Given the description of an element on the screen output the (x, y) to click on. 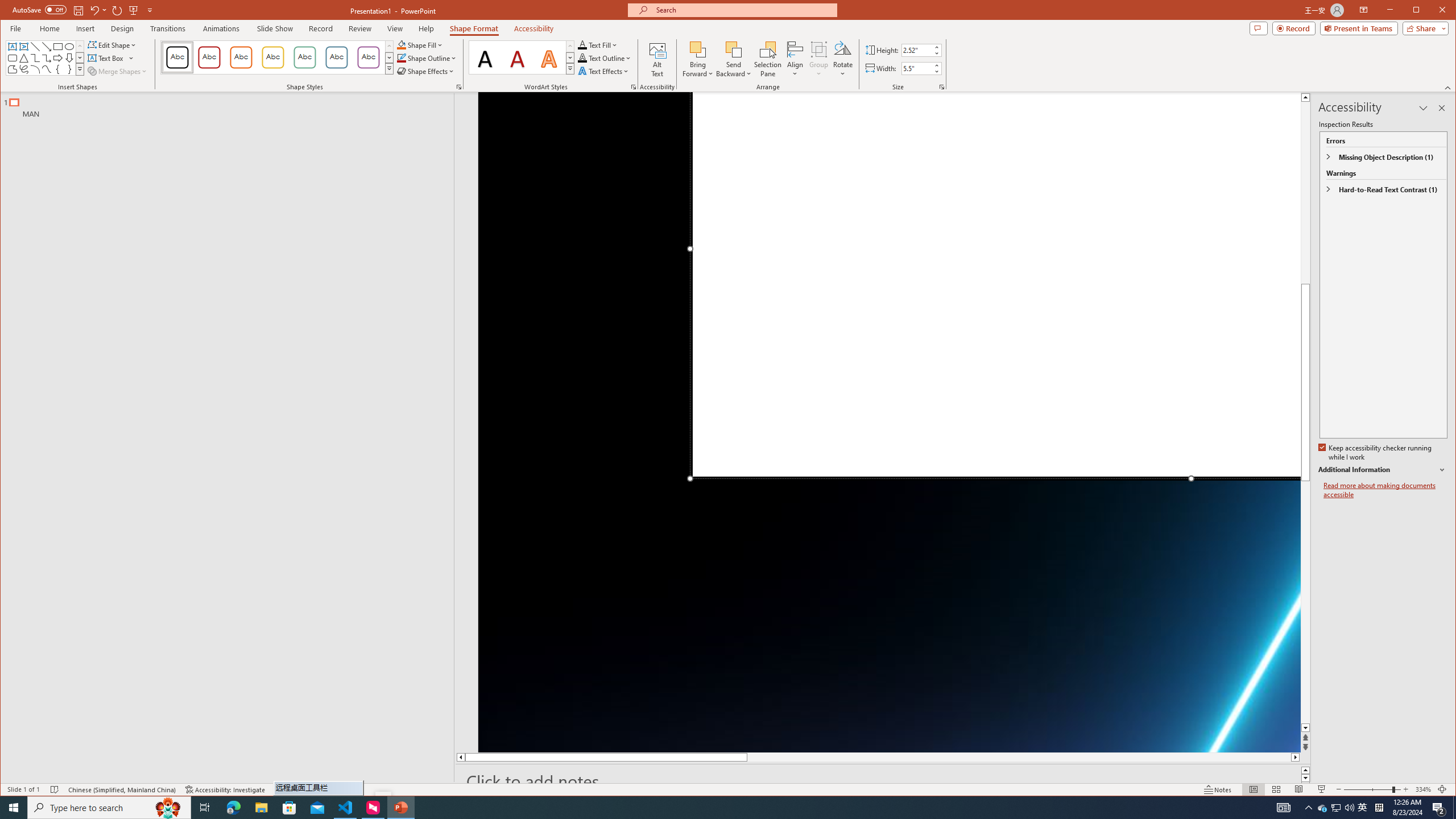
Colored Outline - Black, Dark 1 (177, 57)
